Given the description of an element on the screen output the (x, y) to click on. 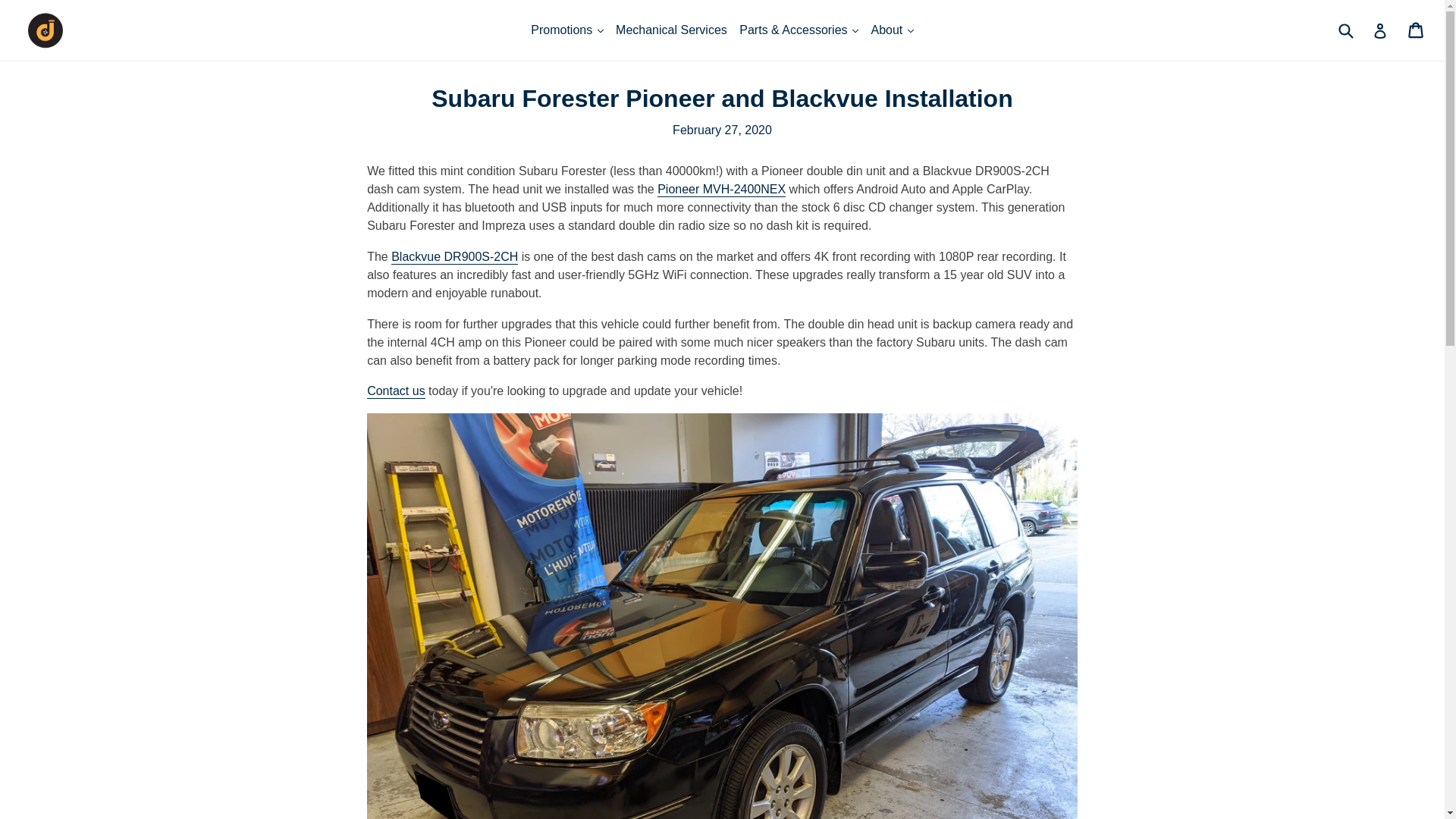
Contact us (395, 391)
Blackvue DR900S-2CH dash cam 4k (454, 257)
Pioneer Mvh-2400NEX (722, 189)
